Given the description of an element on the screen output the (x, y) to click on. 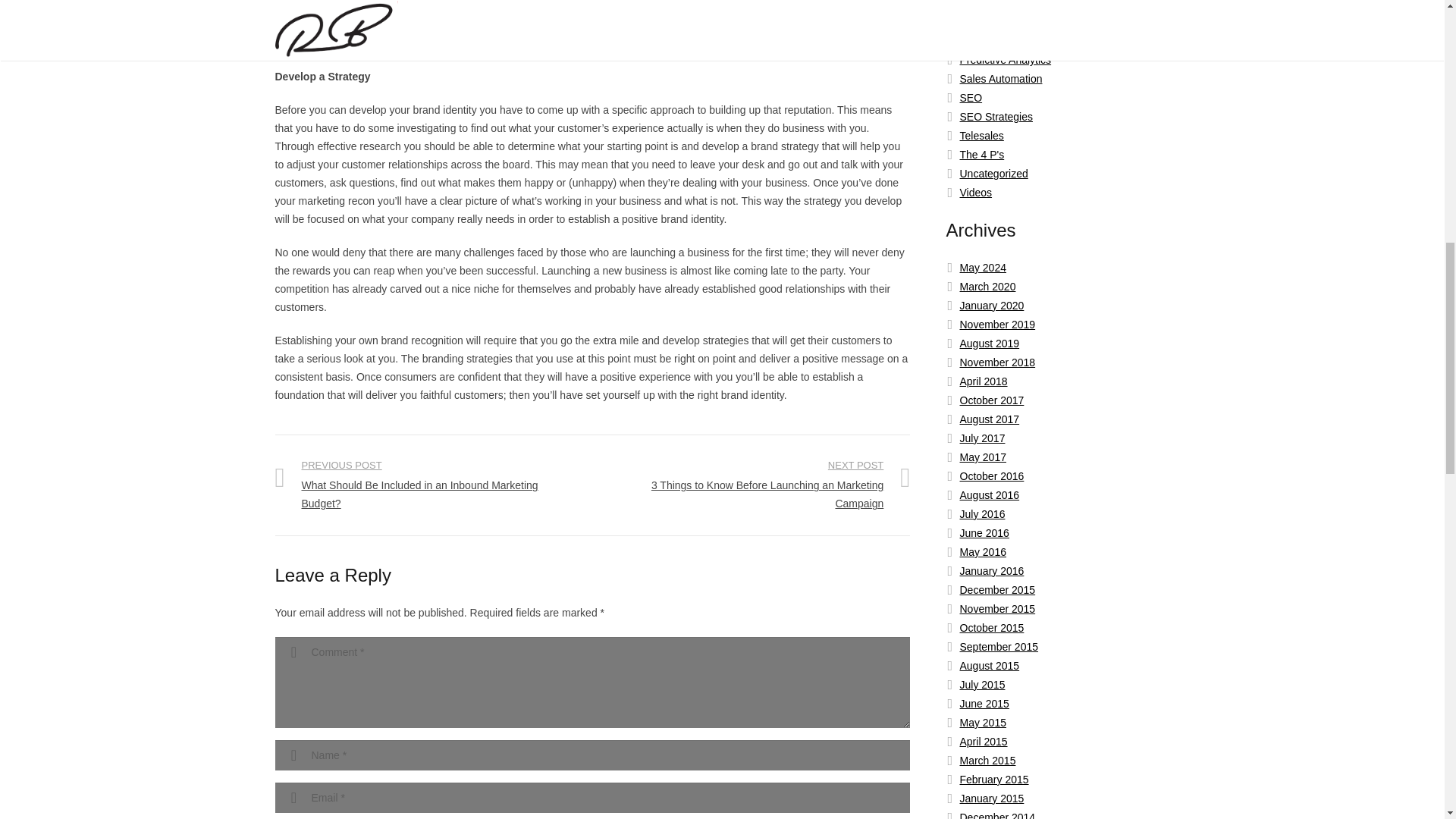
Back to top (1413, 20)
Marketing Goals and Objectives (1034, 4)
Microsoft Marketing (1005, 40)
Marketing Training (1002, 21)
